Given the description of an element on the screen output the (x, y) to click on. 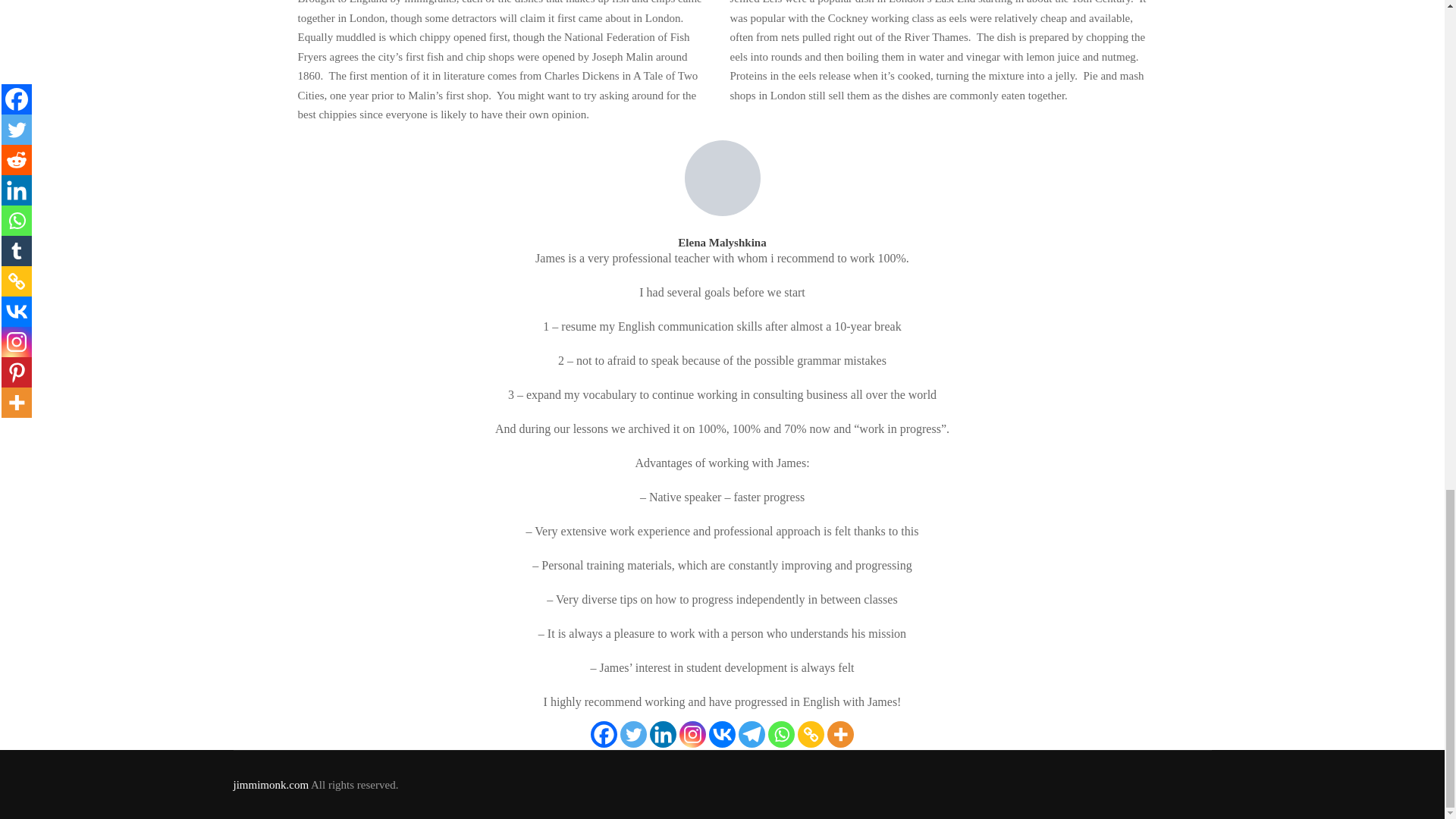
Vkontakte (722, 733)
Telegram (751, 733)
Linkedin (663, 733)
Copy Link (810, 733)
Twitter (633, 733)
Instagram (692, 733)
Whatsapp (781, 733)
Elena Malyshkina, Review (722, 177)
Facebook (604, 733)
